Given the description of an element on the screen output the (x, y) to click on. 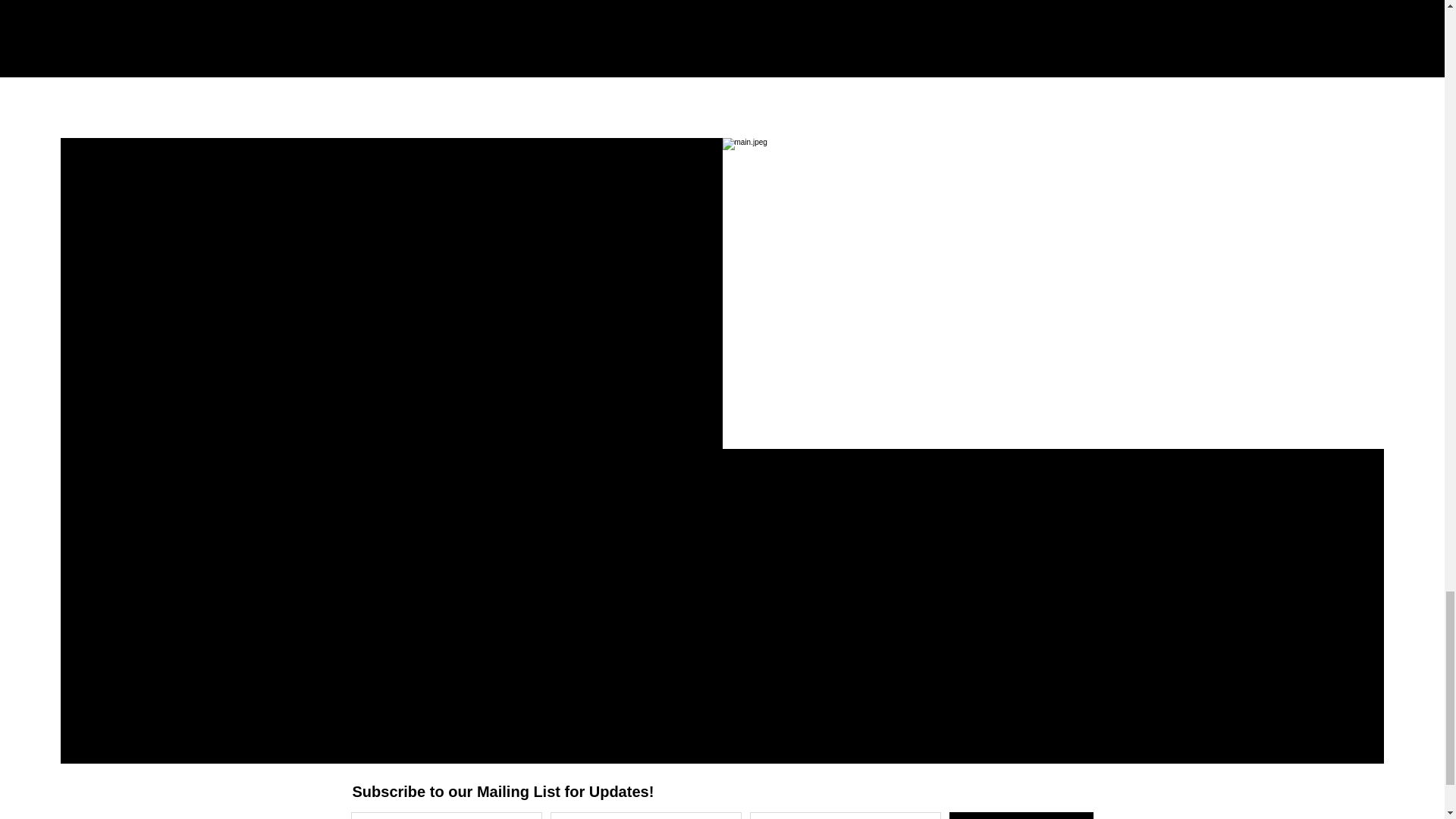
Subscribe (1021, 815)
